Given the description of an element on the screen output the (x, y) to click on. 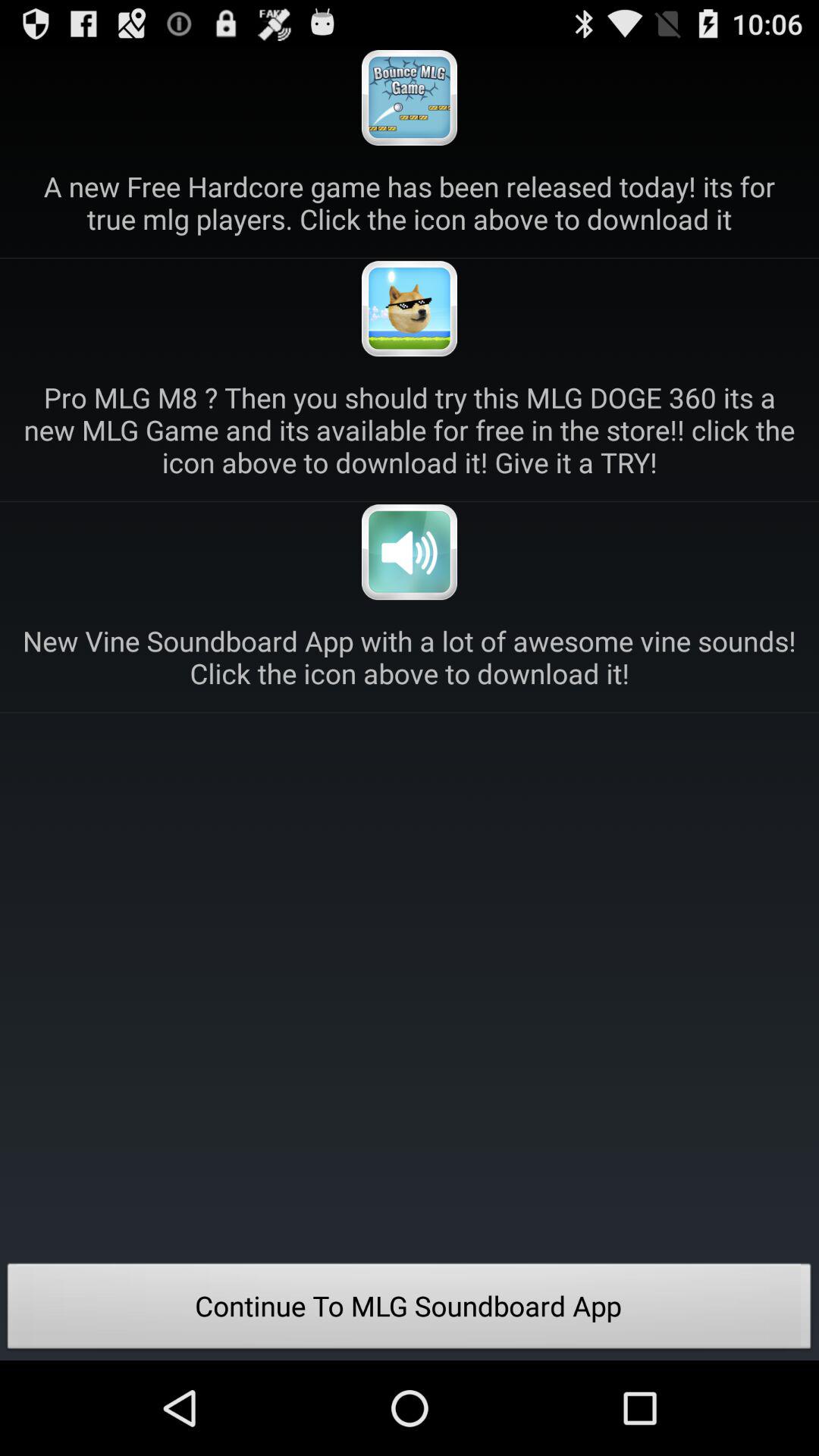
jump until the new vine soundboard app (409, 657)
